Given the description of an element on the screen output the (x, y) to click on. 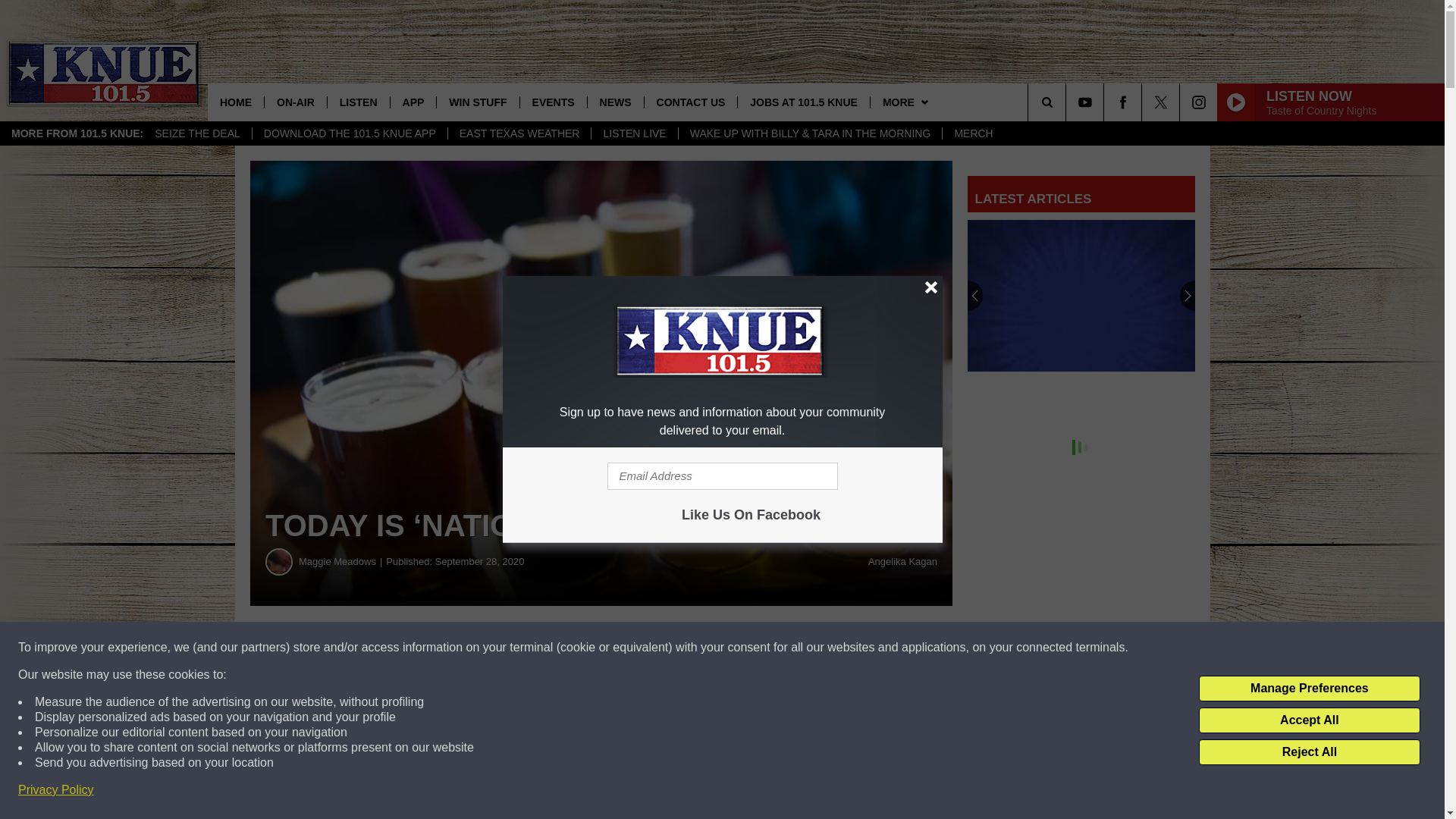
DOWNLOAD THE 101.5 KNUE APP (348, 133)
APP (413, 102)
Email Address (722, 475)
SEARCH (1068, 102)
SEARCH (1068, 102)
Manage Preferences (1309, 688)
Share on Facebook (460, 647)
HOME (235, 102)
Reject All (1309, 751)
MERCH (973, 133)
SEIZE THE DEAL (196, 133)
ON-AIR (294, 102)
LISTEN LIVE (634, 133)
Accept All (1309, 720)
EAST TEXAS WEATHER (518, 133)
